Given the description of an element on the screen output the (x, y) to click on. 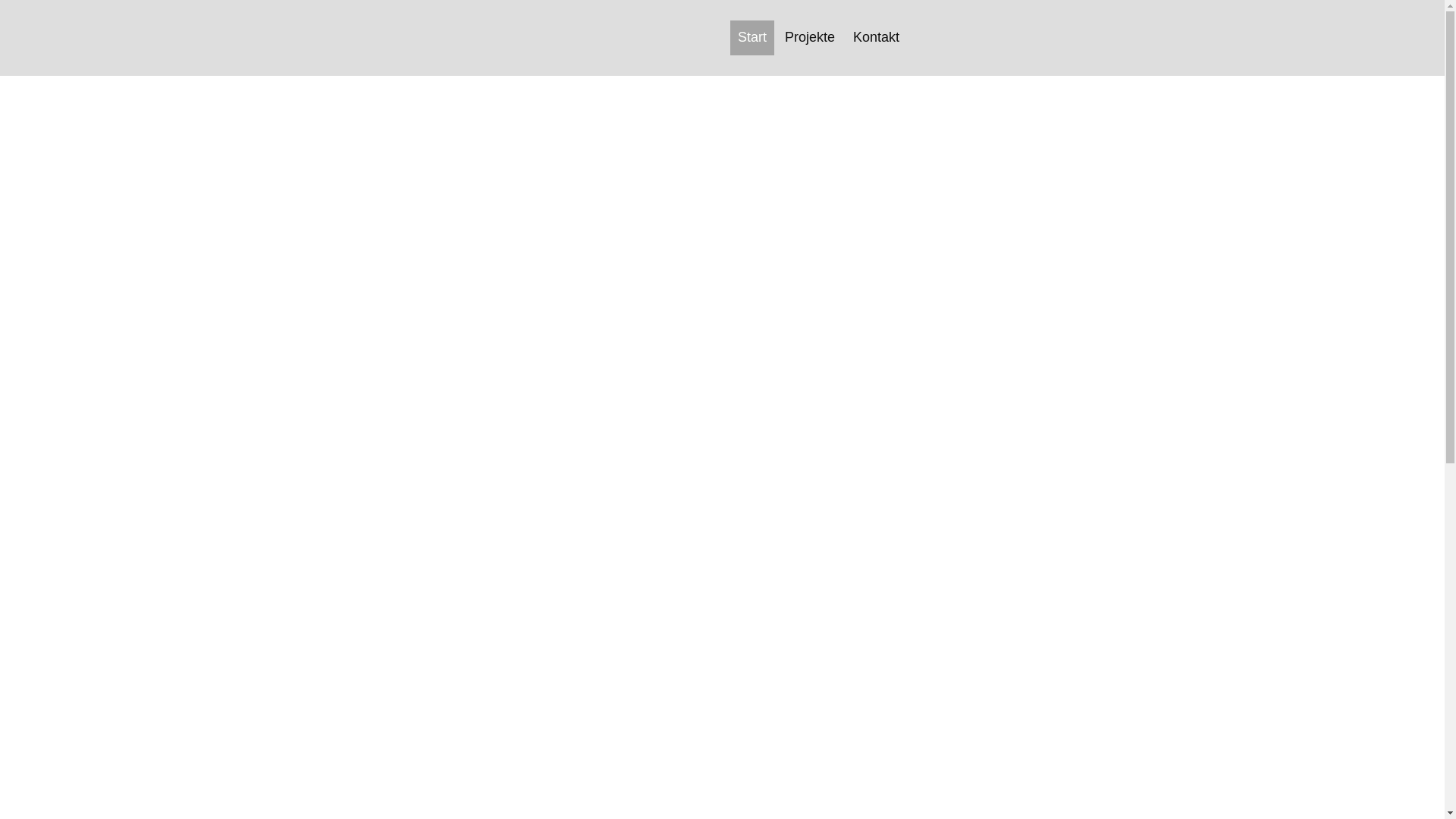
Kontakt Element type: text (876, 36)
Start Element type: text (751, 36)
Projekte Element type: text (809, 36)
